Given the description of an element on the screen output the (x, y) to click on. 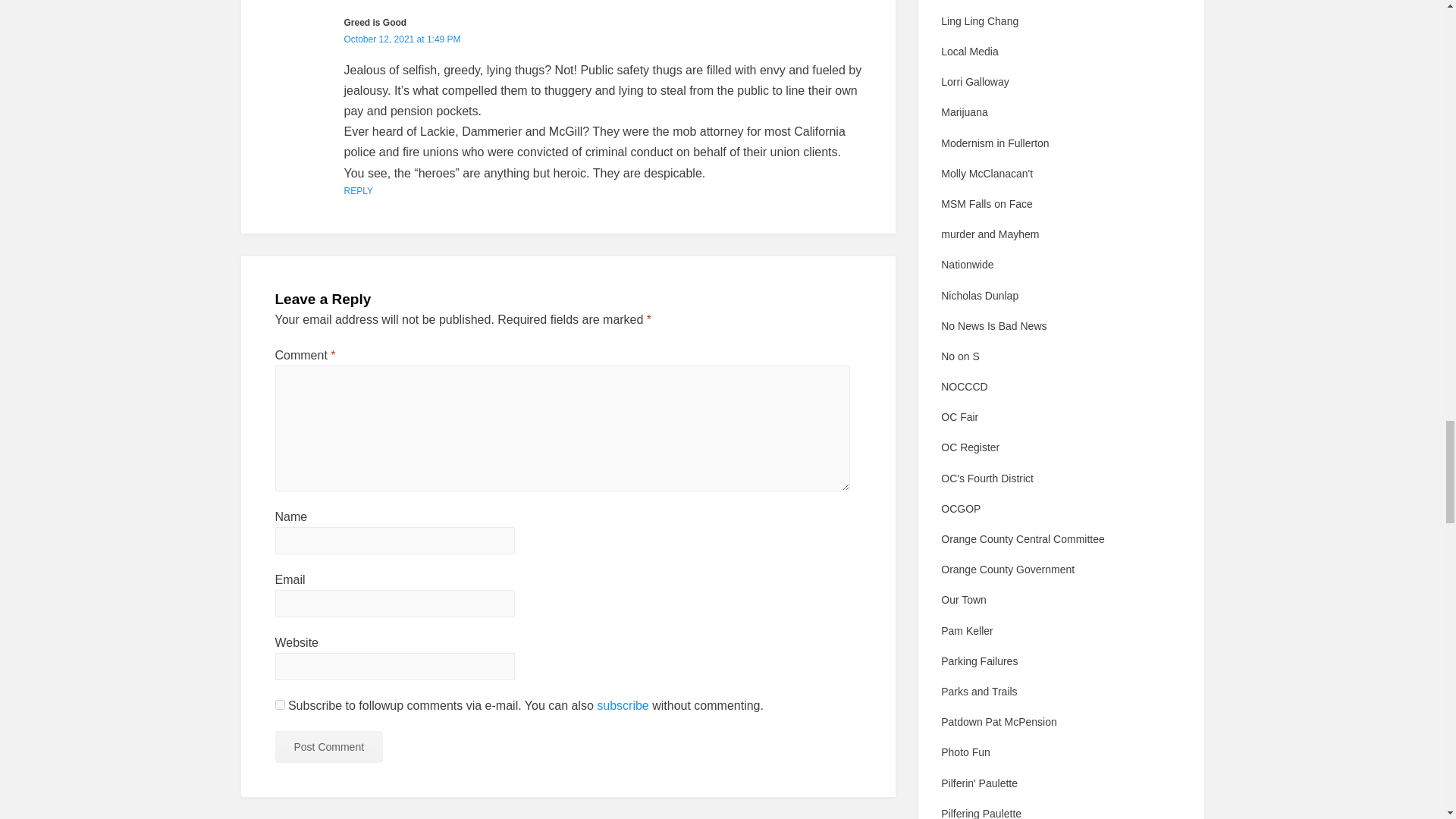
October 12, 2021 at 1:49 PM (402, 39)
Post Comment (328, 746)
yes (279, 705)
